Given the description of an element on the screen output the (x, y) to click on. 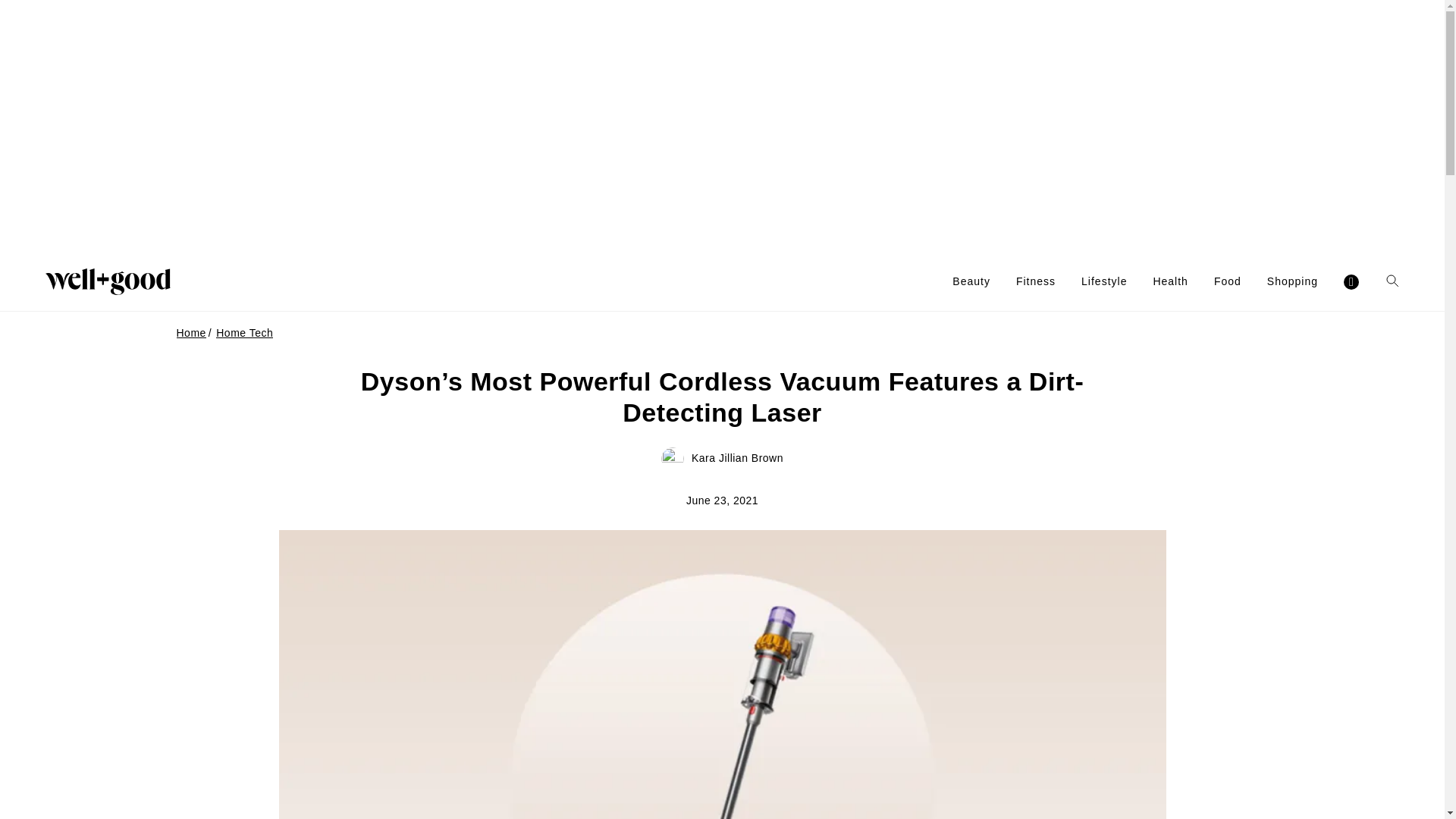
Lifestyle (1103, 281)
Fitness (1035, 281)
Food (1227, 281)
Health (1170, 281)
Beauty (971, 281)
Shopping (1291, 281)
